Given the description of an element on the screen output the (x, y) to click on. 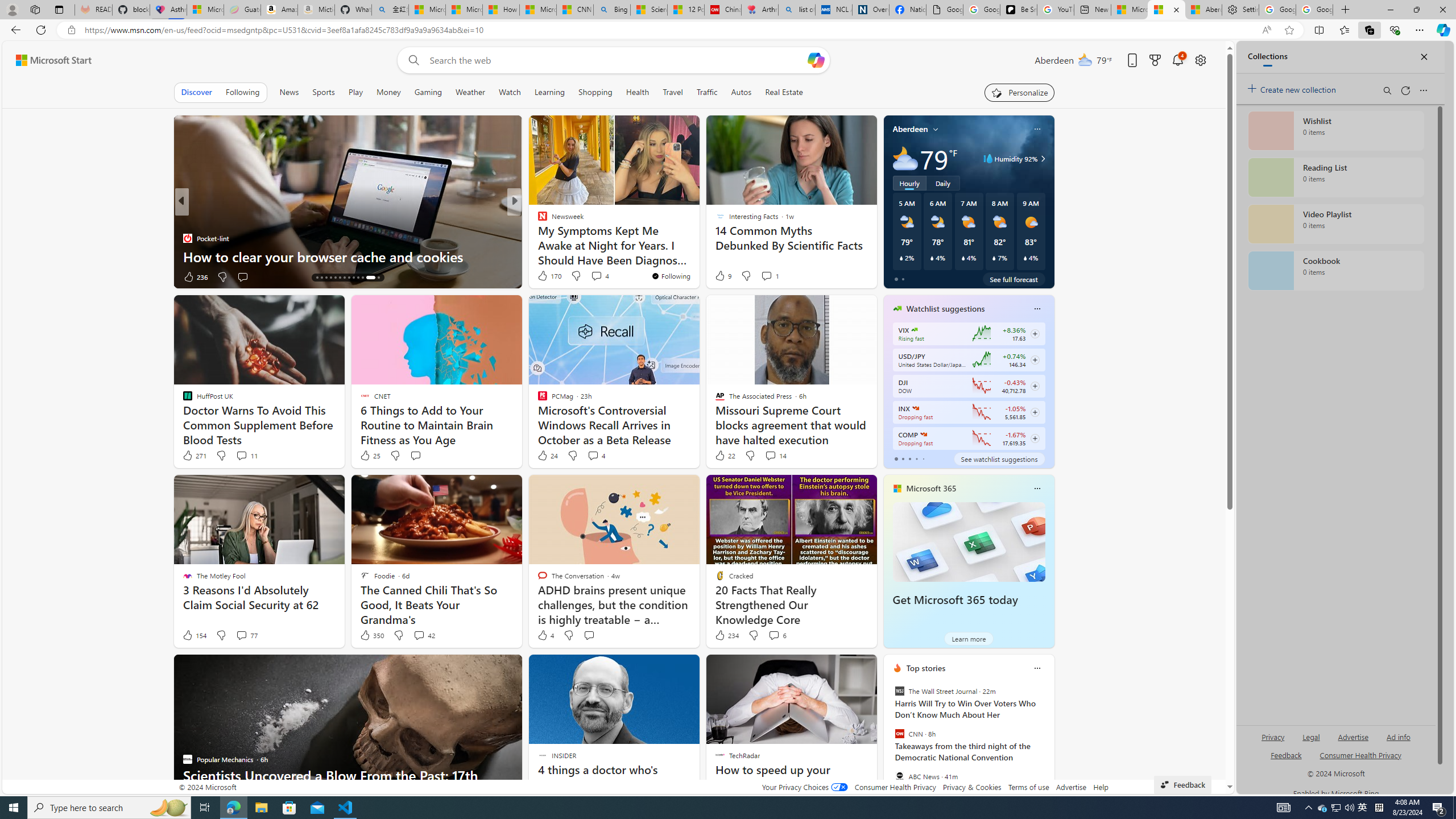
My location (936, 128)
Help (1100, 786)
Web search (411, 60)
AutomationID: tab-16 (326, 277)
list of asthma inhalers uk - Search (796, 9)
View comments 14 Comment (775, 455)
Traffic (706, 92)
Hourly (909, 183)
View comments 1 Comment (765, 275)
You're following FOX News (143, 279)
AutomationID: tab-23 (358, 277)
